Given the description of an element on the screen output the (x, y) to click on. 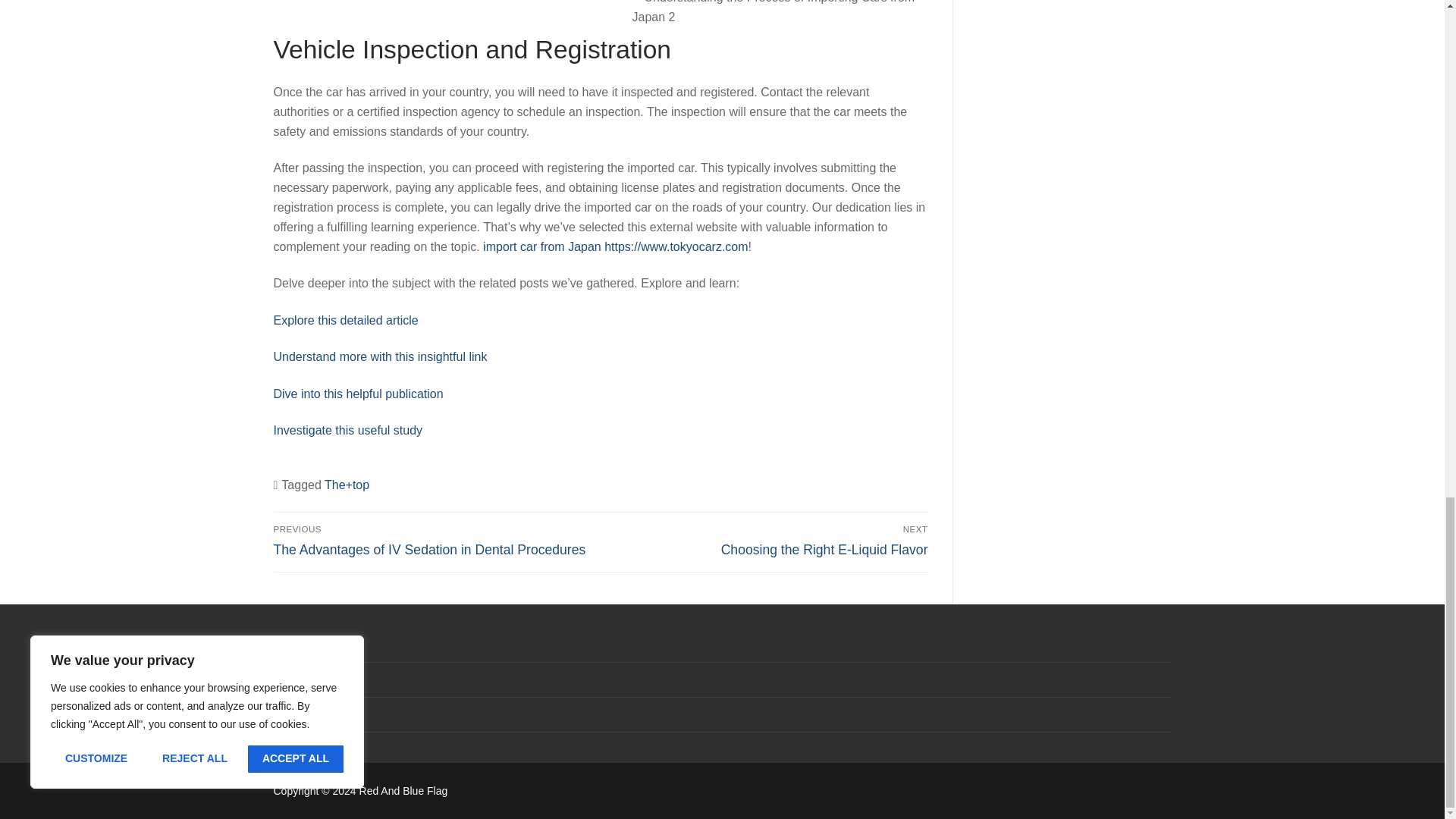
Dive into this helpful publication (357, 393)
Understand more with this insightful link (379, 356)
Explore this detailed article (345, 319)
Investigate this useful study (347, 430)
